Given the description of an element on the screen output the (x, y) to click on. 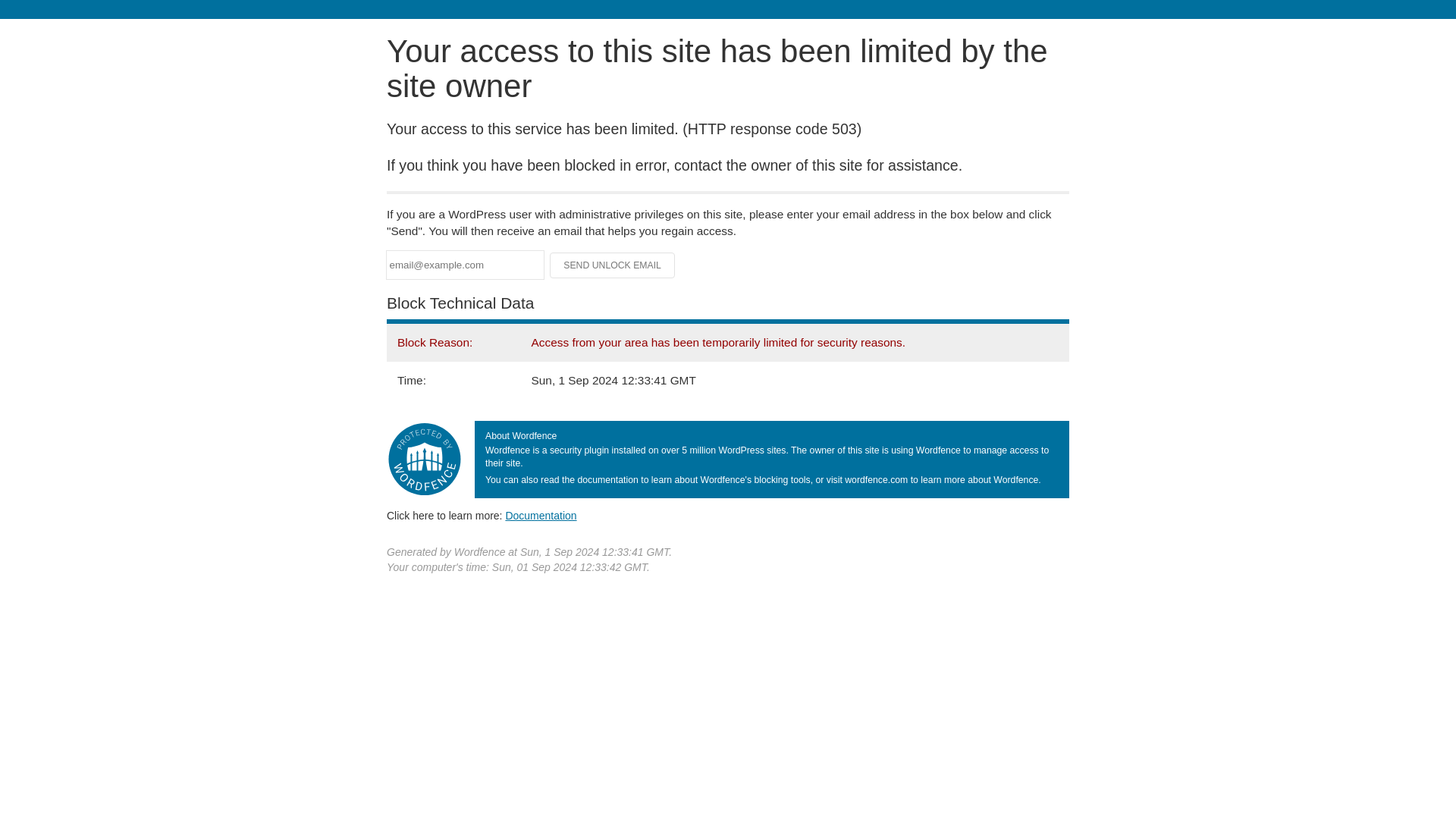
Send Unlock Email (612, 265)
Documentation (540, 515)
Send Unlock Email (612, 265)
